Given the description of an element on the screen output the (x, y) to click on. 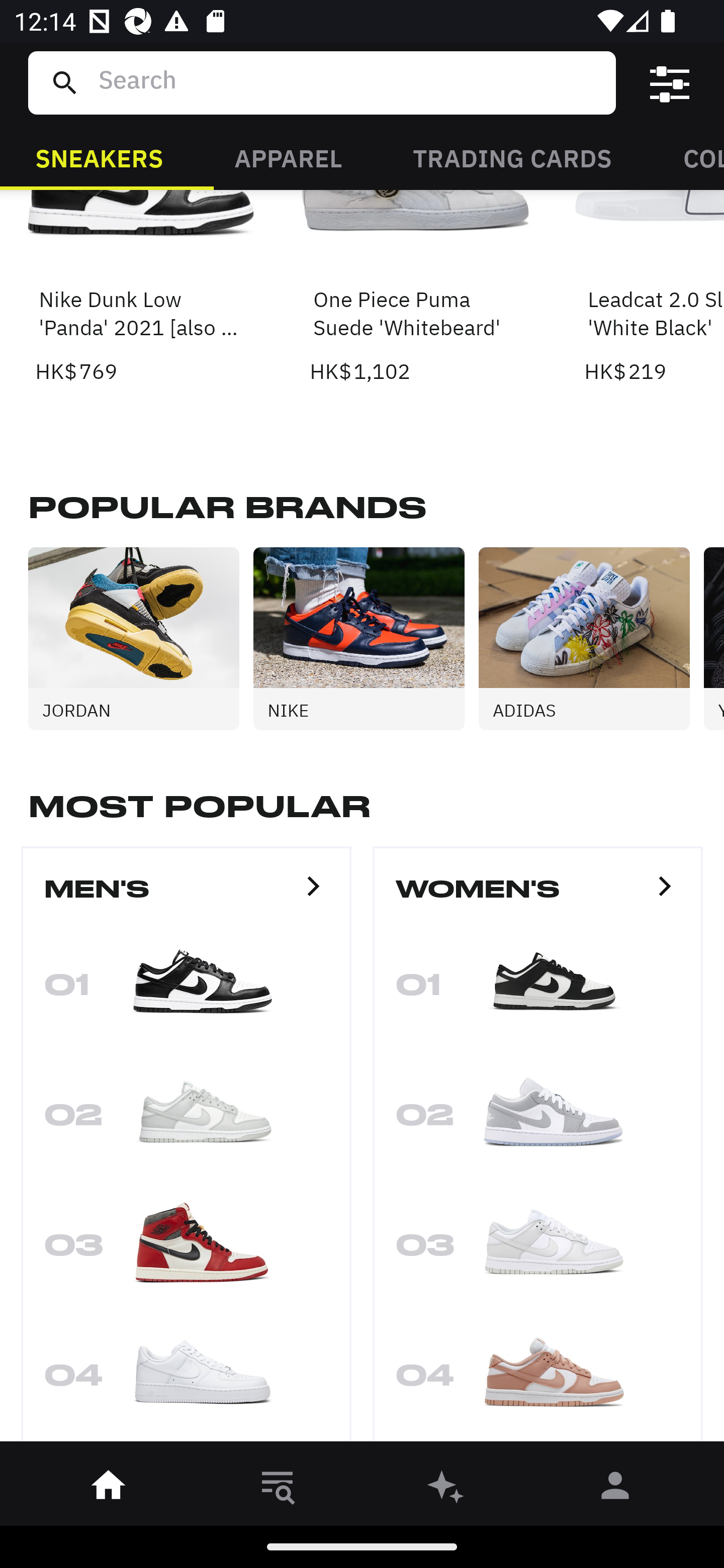
Search (349, 82)
 (669, 82)
SNEAKERS (99, 156)
APPAREL (287, 156)
TRADING CARDS (512, 156)
One Piece Puma Suede 'Whitebeard' HK$ 1,102 (414, 288)
Leadcat 2.0 Slide 'White Black' HK$ 219 (654, 288)
JORDAN (140, 638)
NIKE (365, 638)
ADIDAS (590, 638)
MEN'S  (186, 896)
WOMEN'S  (538, 896)
01 (186, 990)
01 (538, 990)
02 (186, 1120)
02 (538, 1120)
03 (186, 1250)
03 (538, 1250)
04 (186, 1380)
04 (538, 1380)
󰋜 (108, 1488)
󱎸 (277, 1488)
󰫢 (446, 1488)
󰀄 (615, 1488)
